Given the description of an element on the screen output the (x, y) to click on. 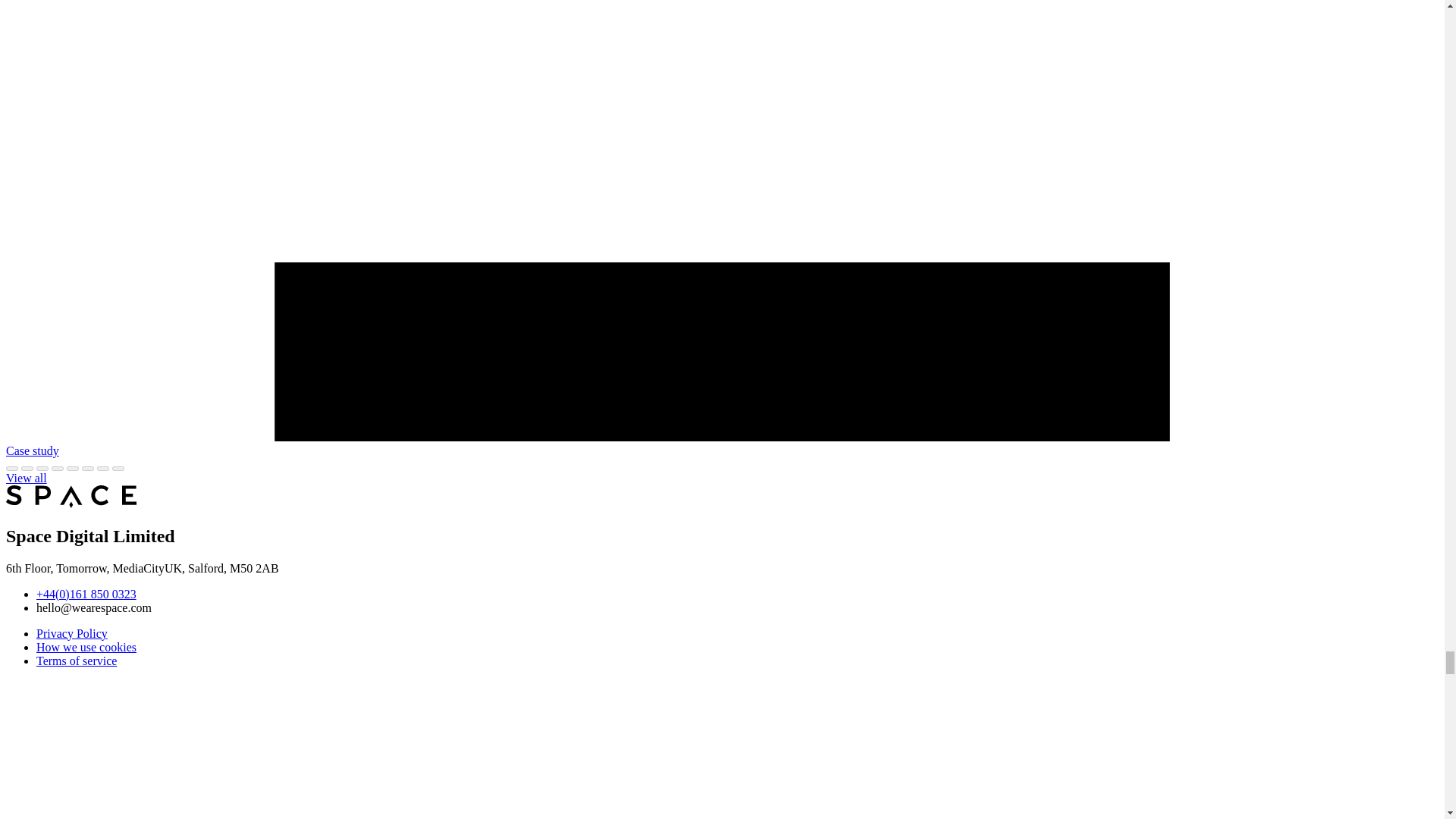
Terms of service (76, 659)
How we use cookies (86, 645)
View all (25, 477)
Privacy Policy (71, 632)
